Given the description of an element on the screen output the (x, y) to click on. 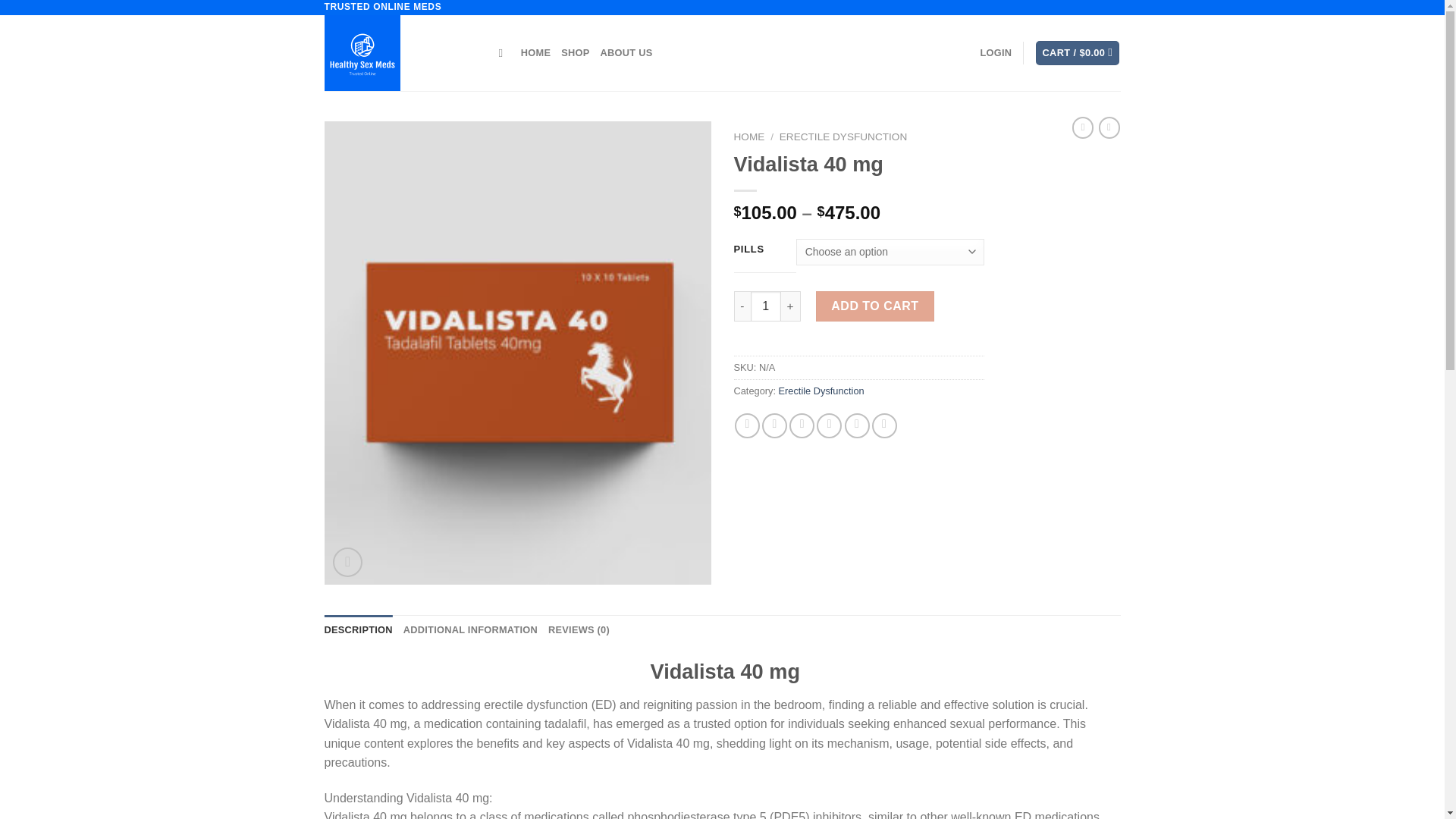
LOGIN (995, 52)
ADDITIONAL INFORMATION (470, 630)
Erectile Dysfunction (821, 390)
1 (765, 306)
ADD TO CART (874, 306)
Cialis - Buy Cialis Online (400, 52)
SHOP (574, 52)
ABOUT US (625, 52)
HOME (749, 136)
HOME (535, 52)
Cart (1077, 53)
Qty (765, 306)
ERECTILE DYSFUNCTION (842, 136)
DESCRIPTION (358, 630)
